Given the description of an element on the screen output the (x, y) to click on. 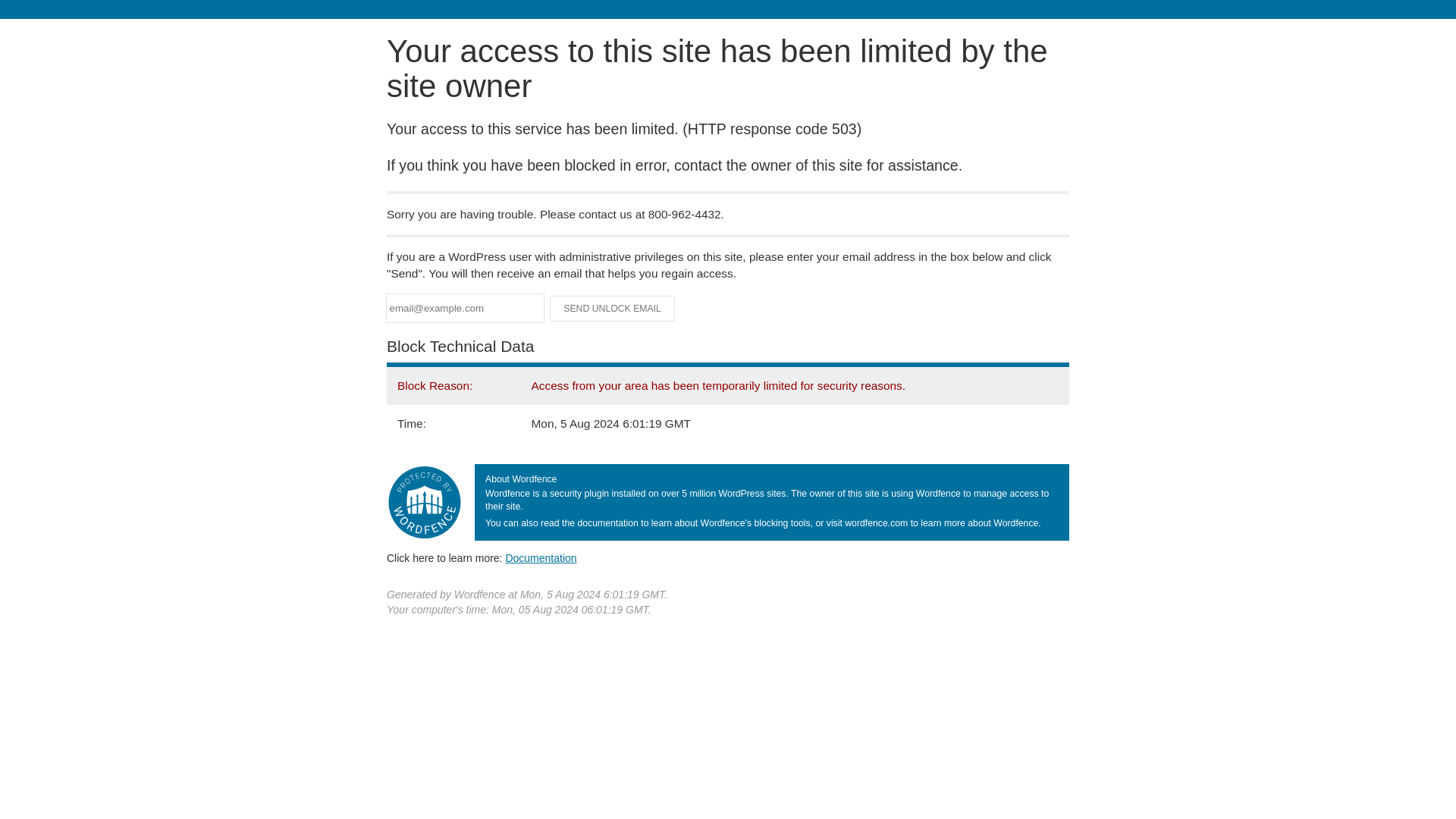
Send Unlock Email (612, 308)
Send Unlock Email (612, 308)
Documentation (540, 558)
